Given the description of an element on the screen output the (x, y) to click on. 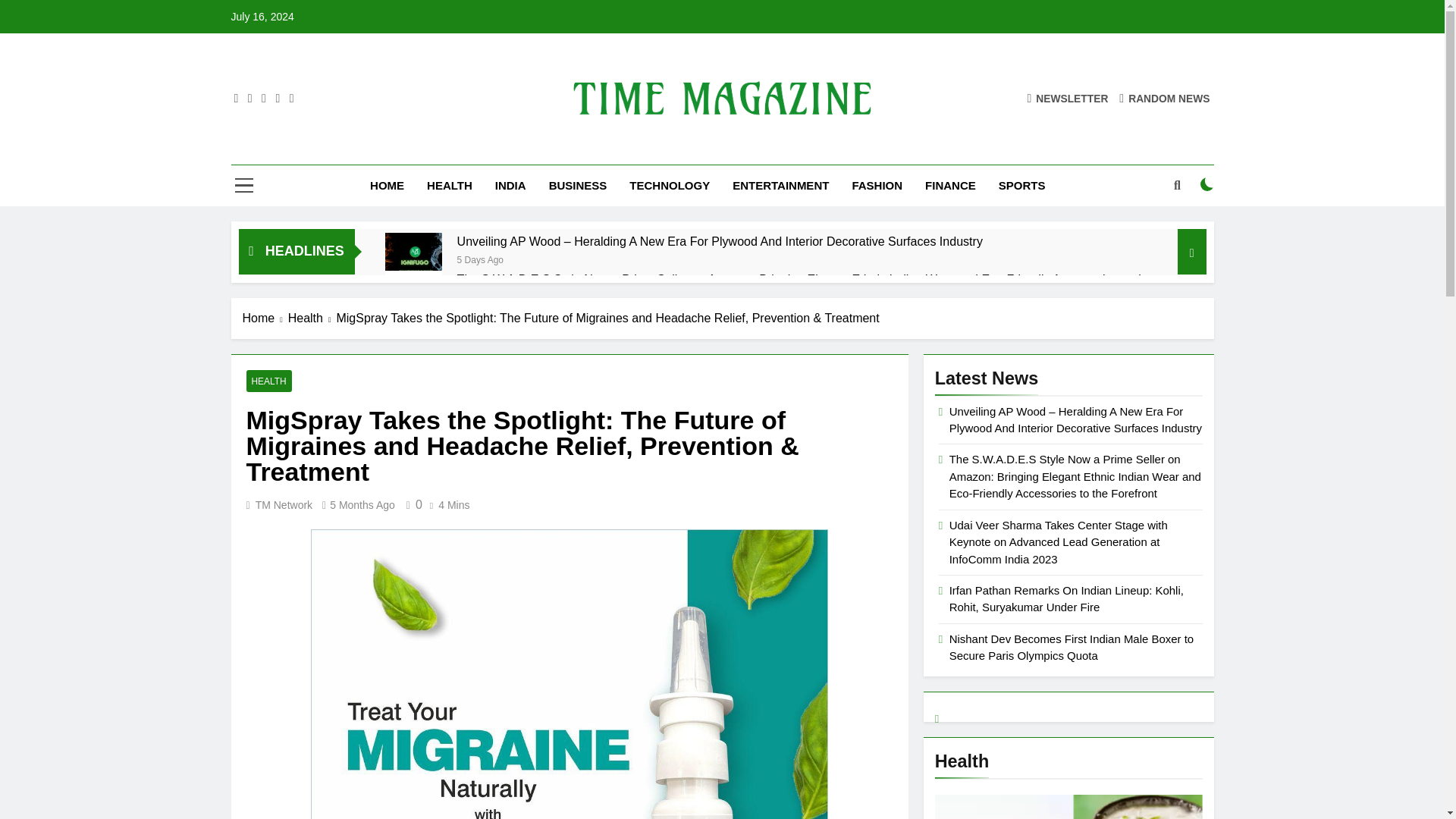
SPORTS (1022, 185)
FASHION (877, 185)
HEALTH (448, 185)
TECHNOLOGY (668, 185)
on (1206, 183)
HOME (386, 185)
BUSINESS (577, 185)
NEWSLETTER (1067, 97)
5 Days Ago (480, 258)
RANDOM NEWS (1164, 97)
FINANCE (950, 185)
ENTERTAINMENT (780, 185)
